Given the description of an element on the screen output the (x, y) to click on. 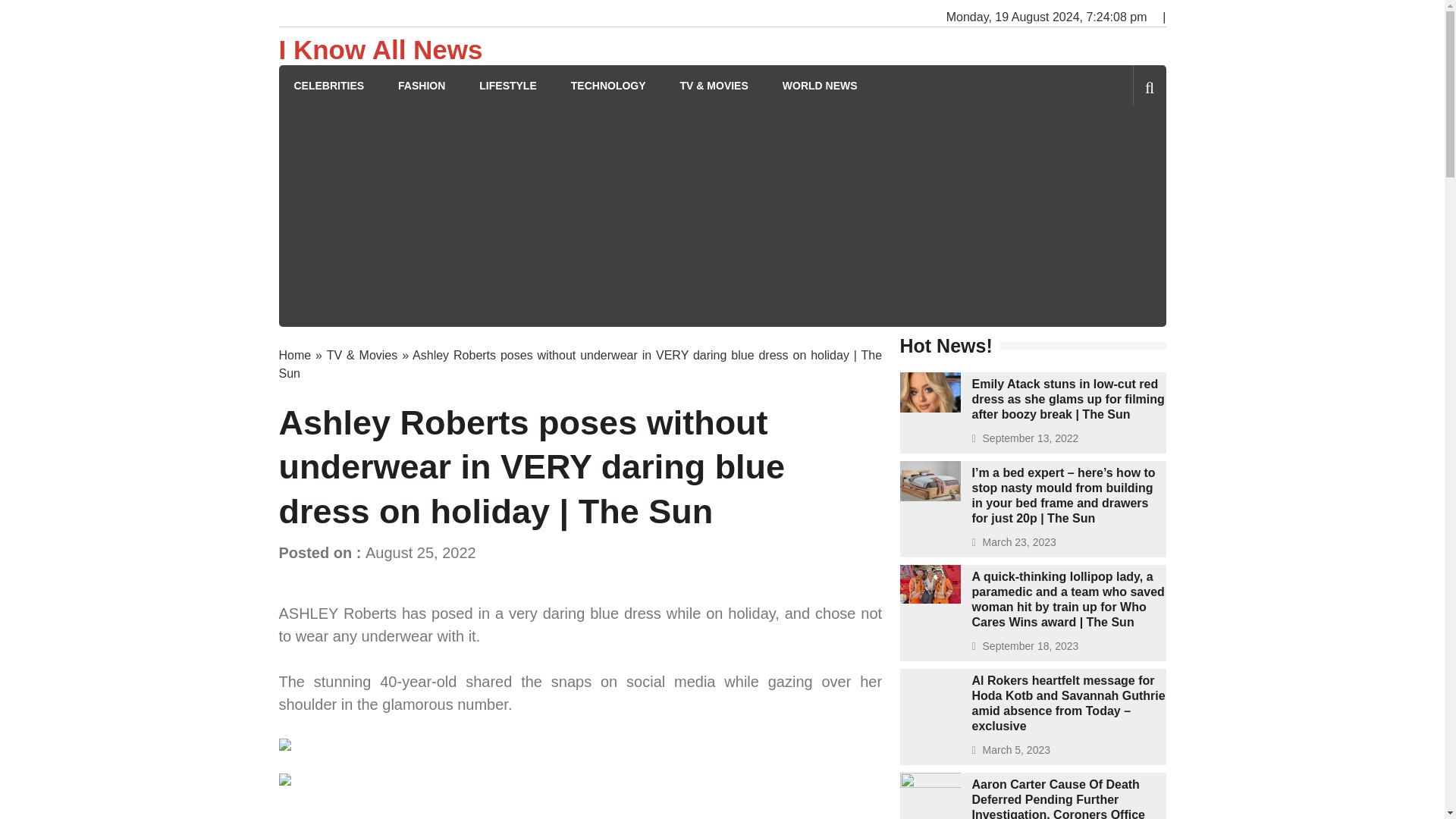
Home (295, 354)
August 25, 2022 (420, 552)
September 18, 2023 (1030, 645)
TECHNOLOGY (608, 86)
March 23, 2023 (1019, 541)
FASHION (421, 86)
CELEBRITIES (329, 86)
LIFESTYLE (507, 86)
